Given the description of an element on the screen output the (x, y) to click on. 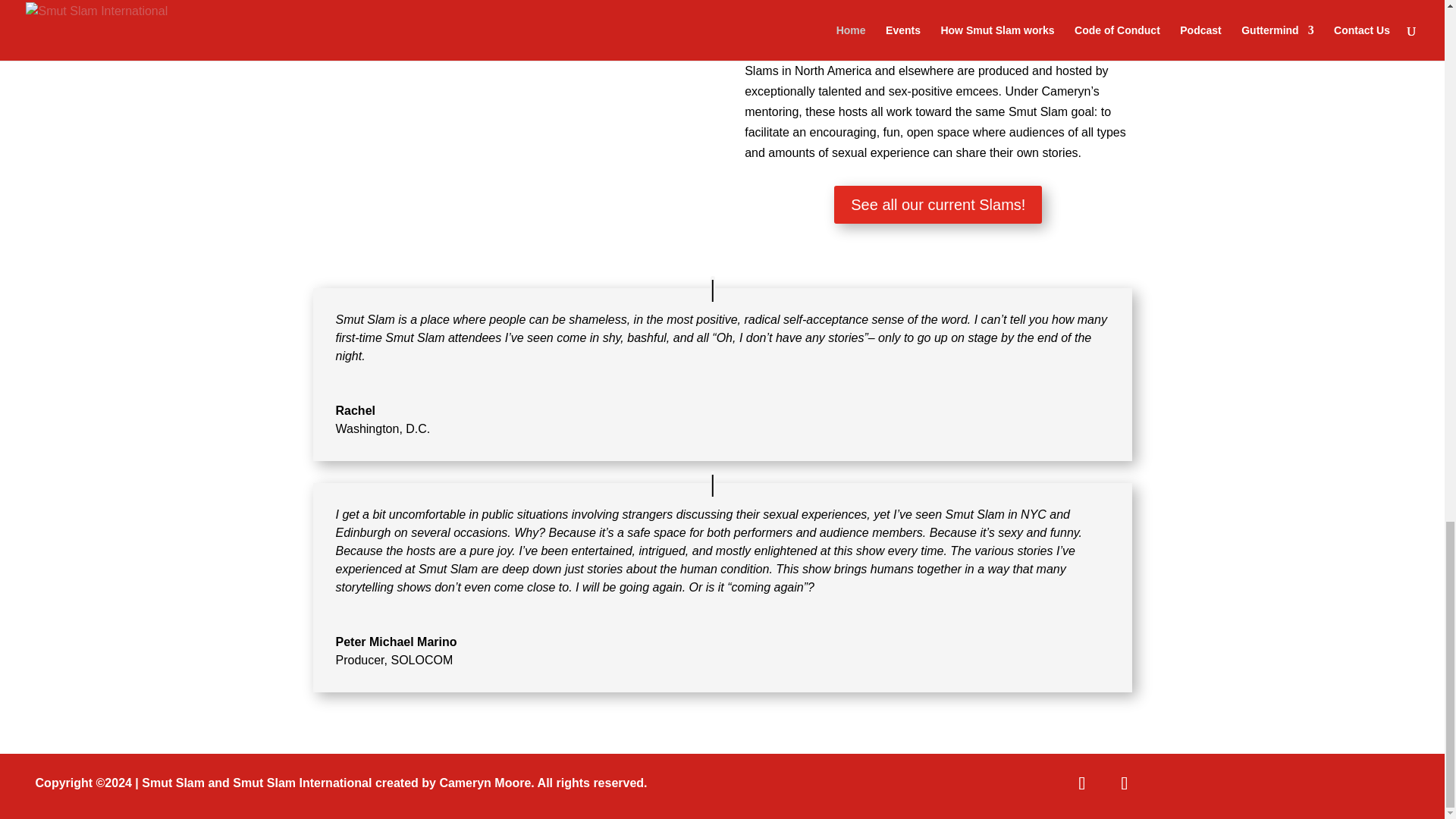
Follow on Instagram (1124, 782)
See all our current Slams! (938, 204)
Follow on Facebook (1082, 782)
